Given the description of an element on the screen output the (x, y) to click on. 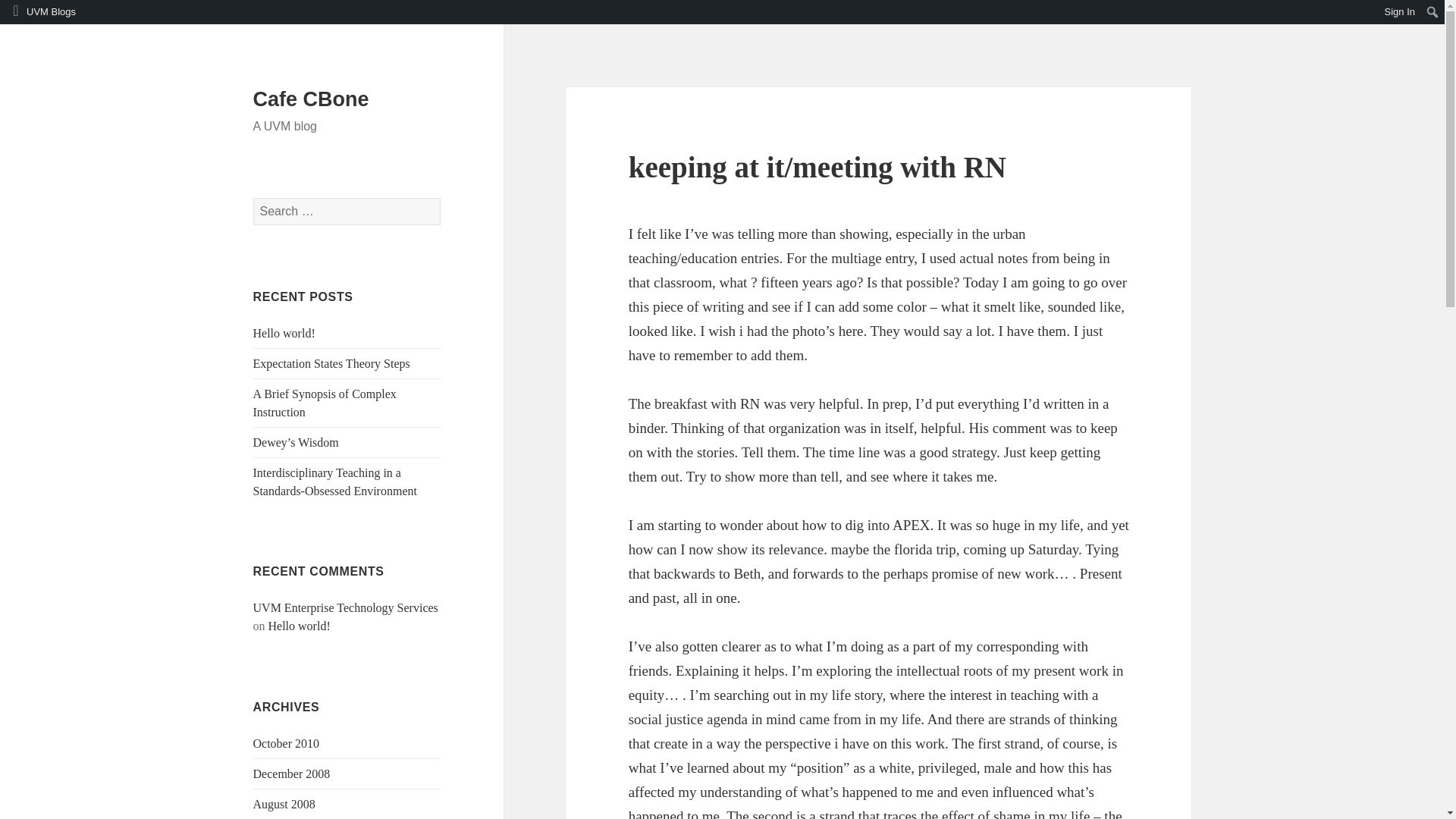
Hello world! (284, 332)
December 2008 (291, 773)
UVM Blogs (40, 12)
Sign In (1399, 12)
Search (11, 12)
October 2010 (286, 743)
August 2008 (284, 803)
UVM Enterprise Technology Services (345, 607)
A Brief Synopsis of Complex Instruction (324, 402)
Expectation States Theory Steps (331, 363)
Cafe CBone (311, 98)
